Given the description of an element on the screen output the (x, y) to click on. 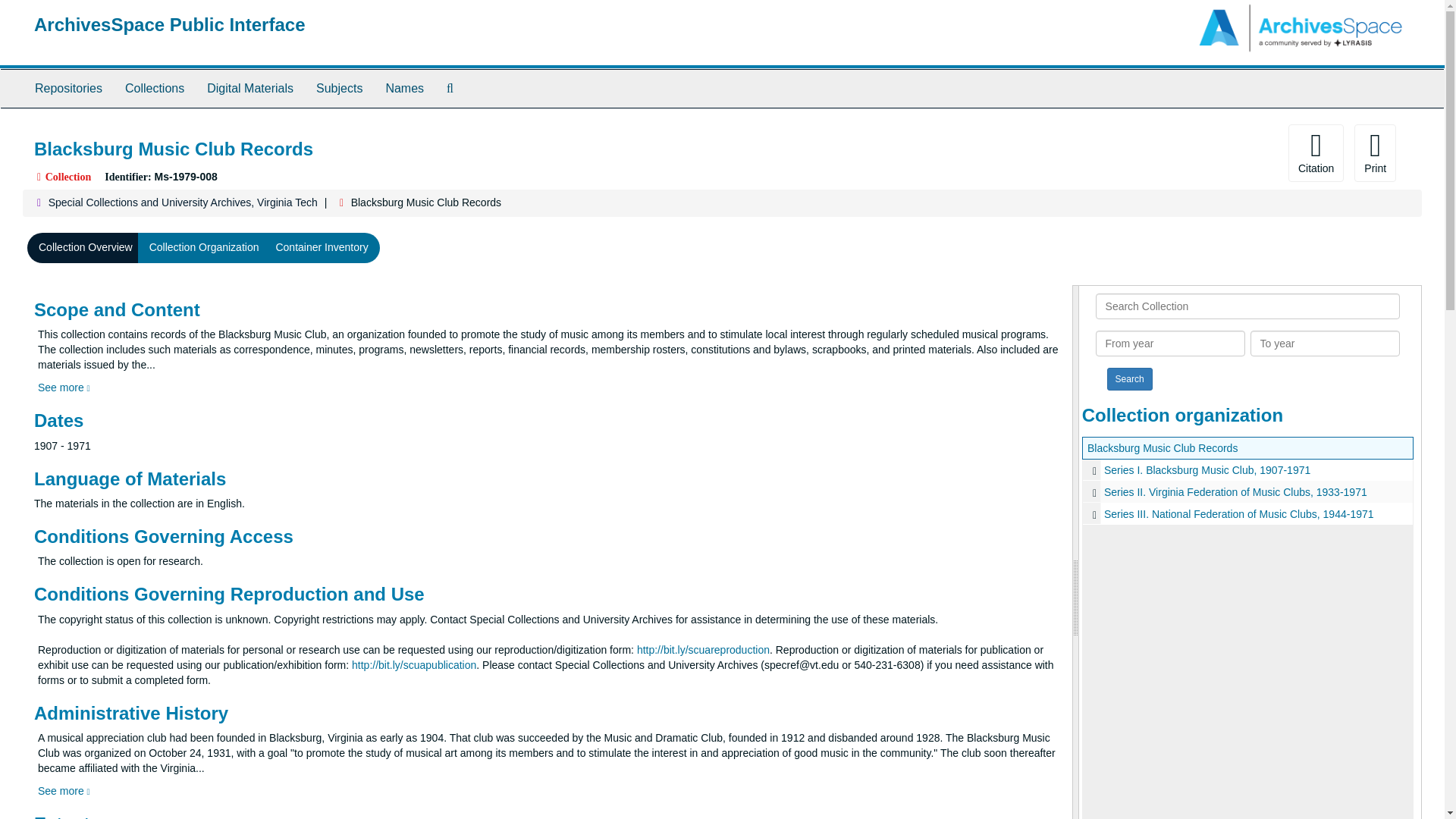
Page Actions (1130, 152)
ArchivesSpace Public Interface (169, 24)
Search (1129, 378)
Collection Organization (204, 247)
Series I. Blacksburg Music Club (1247, 469)
Search (1129, 378)
Digital Materials (249, 88)
Collections (154, 88)
Return to the ArchivesSpace homepage (169, 24)
Series II. Virginia Federation of Music Clubs (1247, 491)
Special Collections and University Archives, Virginia Tech (182, 202)
Series III. National Federation of Music Clubs (1247, 513)
Repositories (68, 88)
Subjects (339, 88)
Blacksburg Music Club Records (1162, 448)
